Given the description of an element on the screen output the (x, y) to click on. 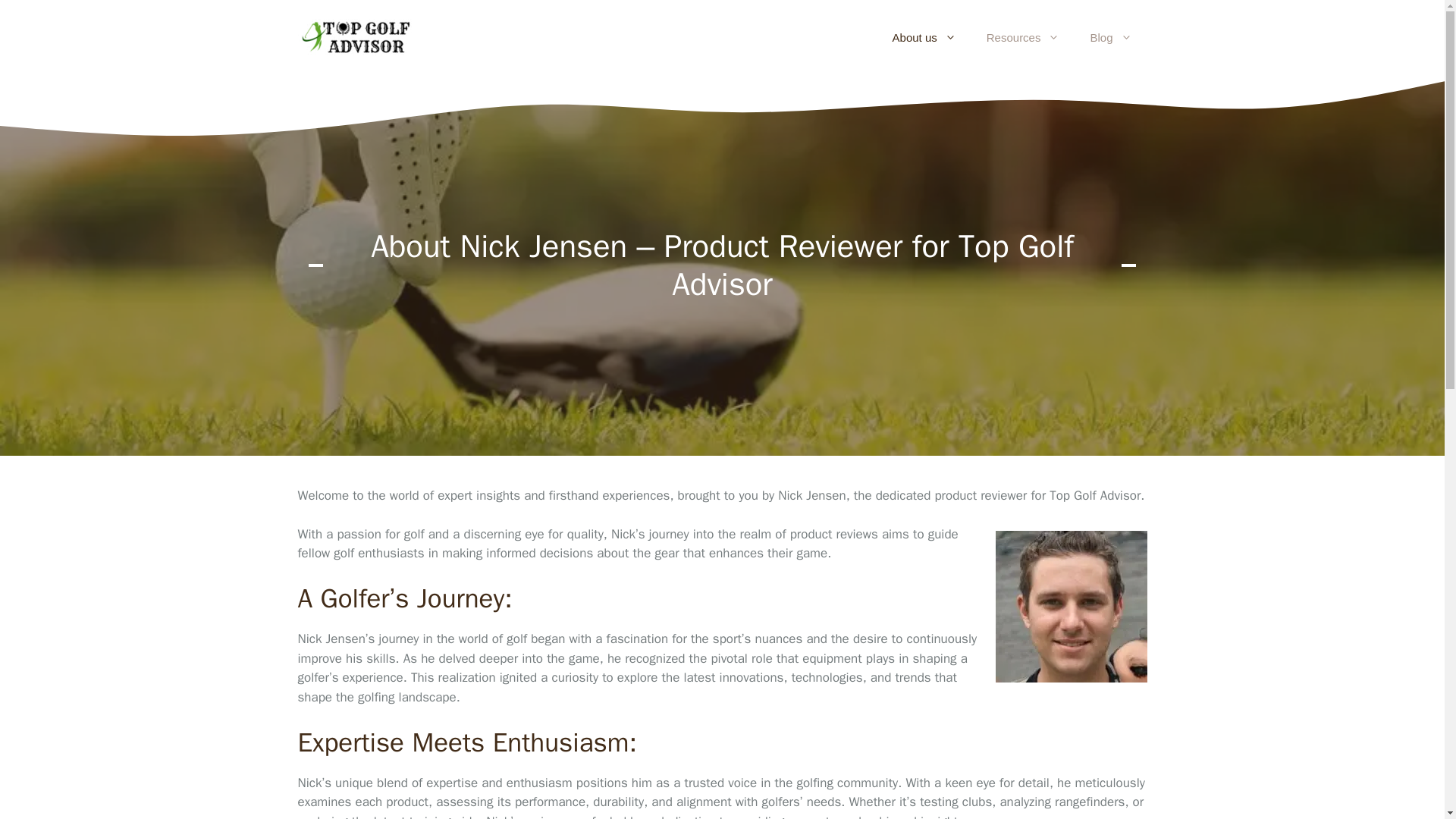
Blog (1110, 37)
Resources (1023, 37)
Nick Jensen Top Golf Advisor (1070, 606)
About us (924, 37)
